Given the description of an element on the screen output the (x, y) to click on. 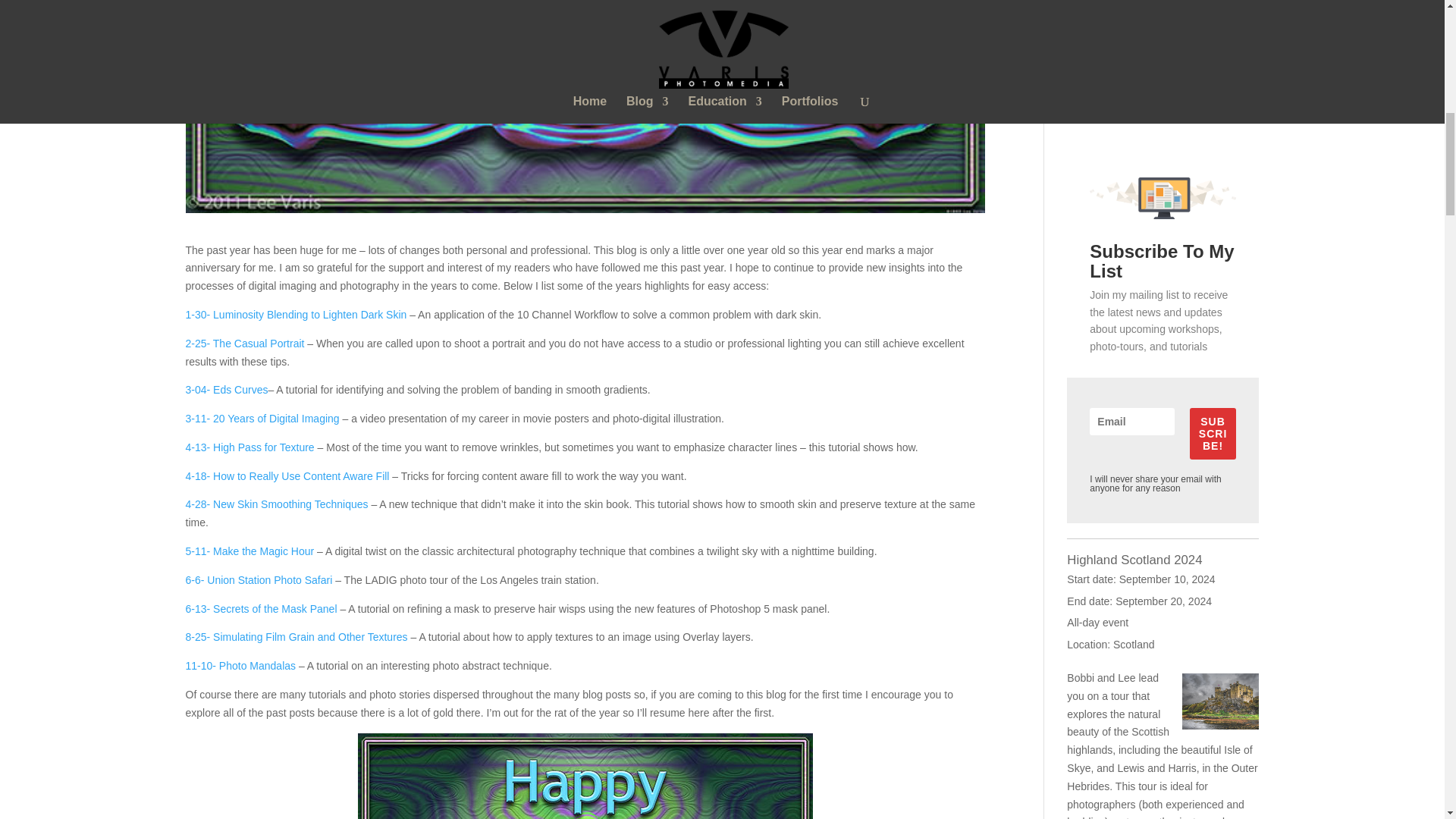
Content Aware Fill (287, 476)
Magic Hour (250, 551)
4-13- High Pass for Texture (249, 447)
Eds Curves (225, 389)
3-11- 20 Years of Digital Imaging (261, 418)
20 Years of Digital Imaging (261, 418)
4-18- How to Really Use Content Aware Fill (287, 476)
Casual Portrait (244, 343)
Photo Mandalas (241, 665)
Union Station (257, 580)
2-25- The Casual Portrait (244, 343)
Skin Smoothing Technique (276, 503)
High Pass for Texture (249, 447)
Simulating Film Grain (295, 636)
Masking Technique (260, 608)
